Given the description of an element on the screen output the (x, y) to click on. 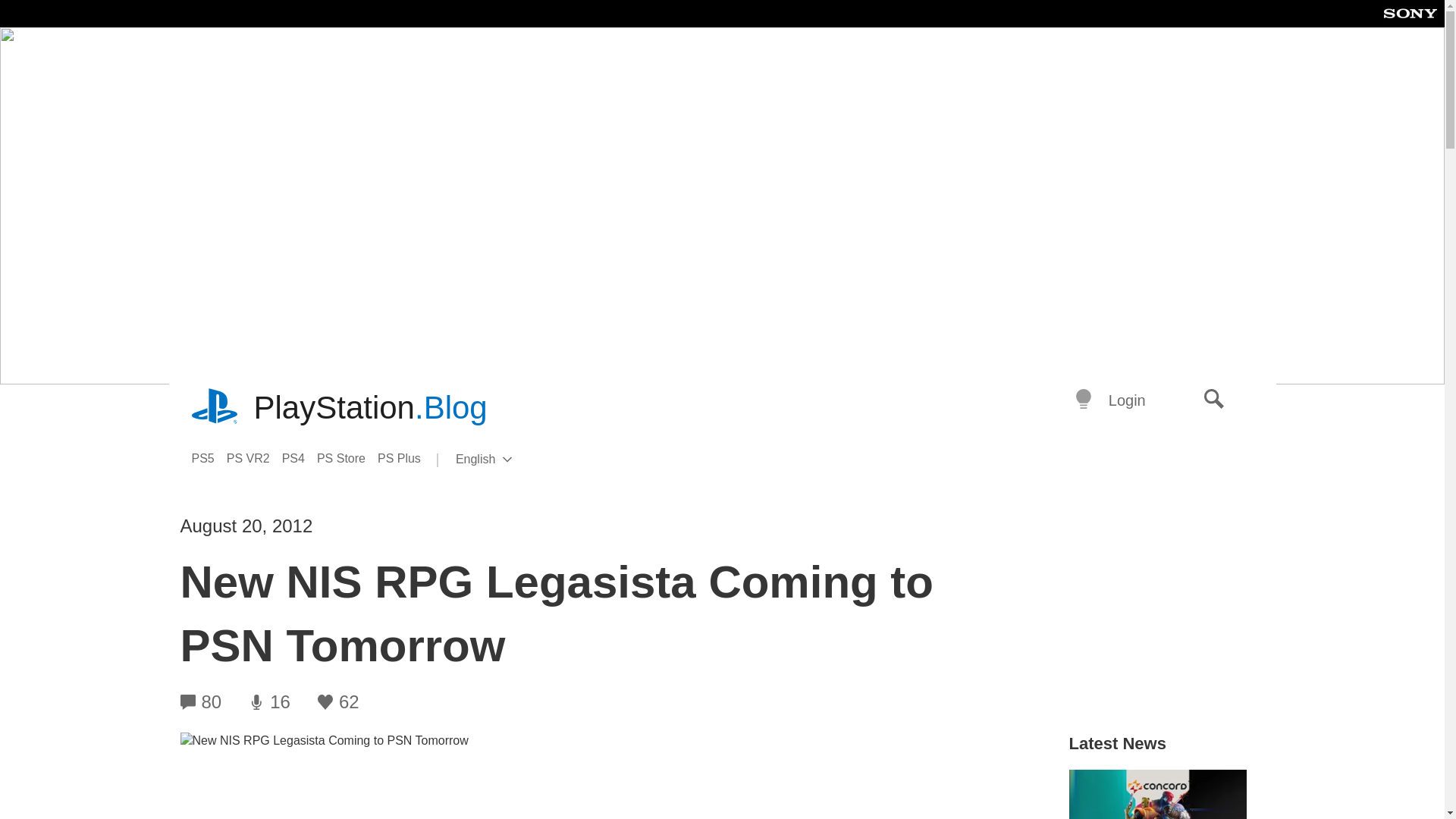
PS VR2 (254, 458)
PS5 (207, 458)
Skip to content (508, 459)
PlayStation.Blog (215, 408)
PS4 (369, 407)
Search (299, 458)
PS Store (1214, 400)
PS Plus (347, 458)
Login (404, 458)
